Given the description of an element on the screen output the (x, y) to click on. 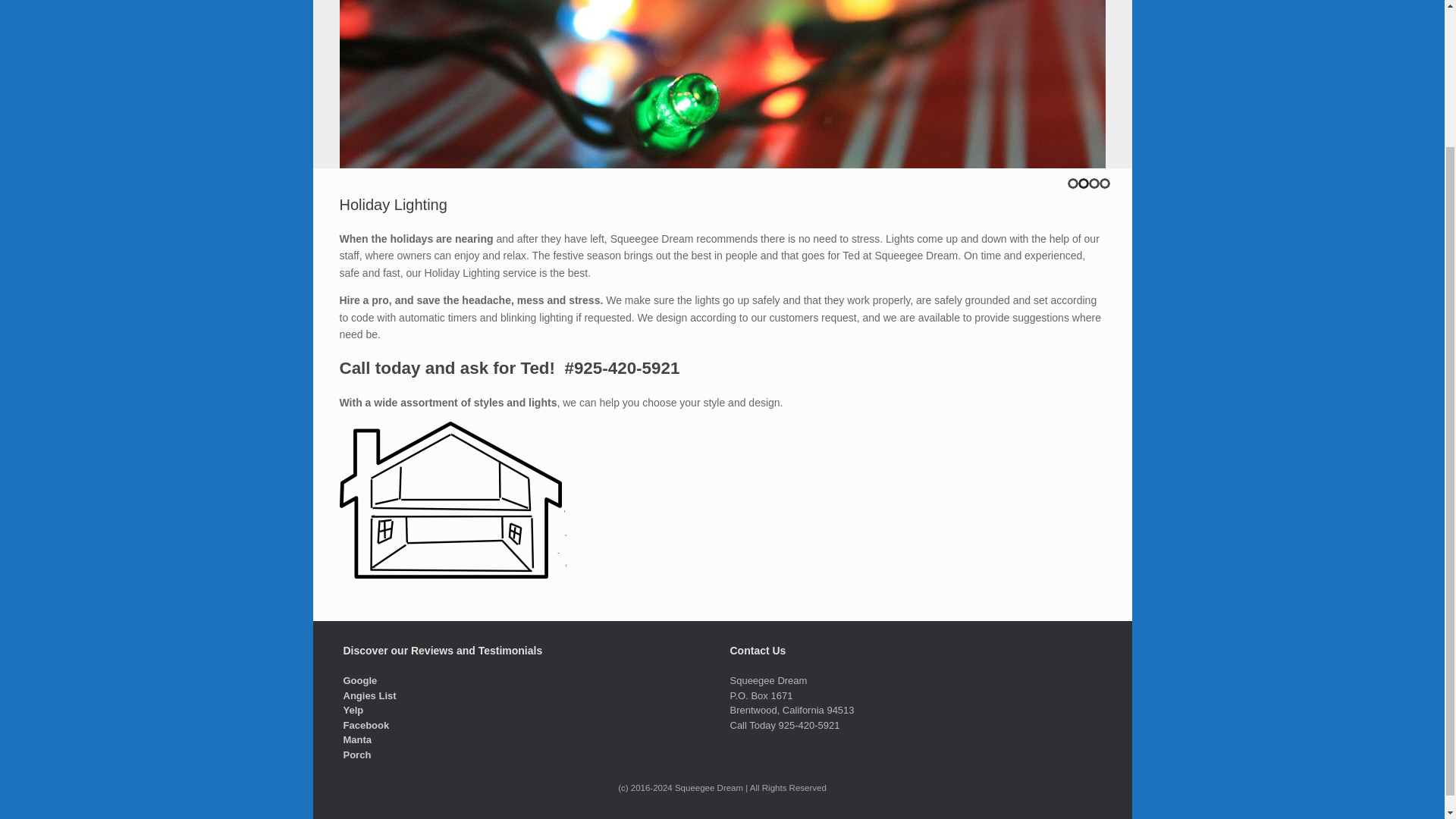
Porch (356, 754)
Facebook (365, 725)
Yelp  (353, 709)
Google (359, 680)
Angies List  (370, 695)
1 (1072, 183)
2 (1083, 183)
Manta (356, 739)
4 (1104, 183)
3 (1094, 183)
